Given the description of an element on the screen output the (x, y) to click on. 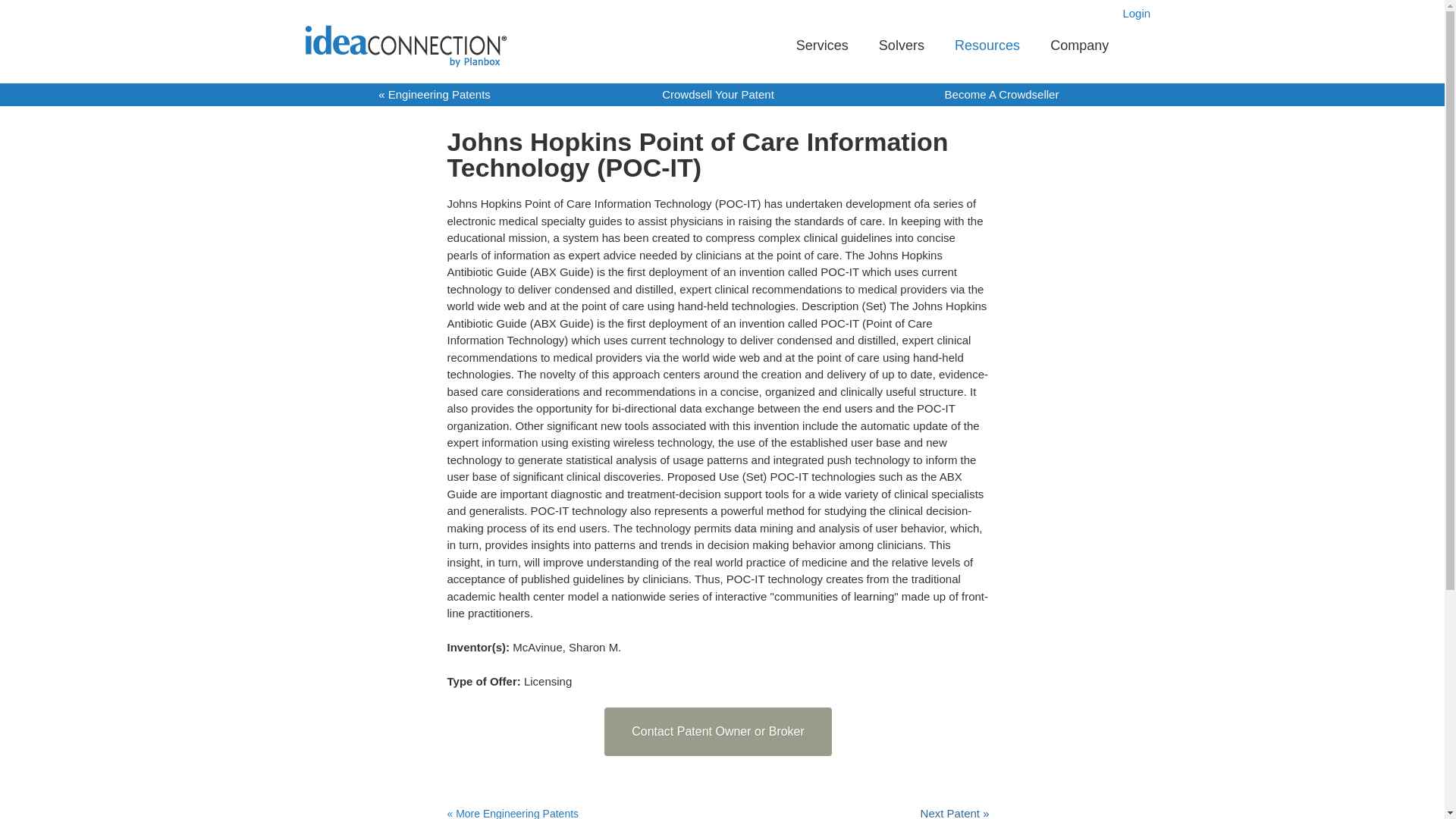
Login (1136, 12)
Contact Patent Owner or Broker (717, 731)
Become A Crowdseller (1001, 93)
Resources (987, 45)
Crowdsell Your Patent (718, 93)
